Given the description of an element on the screen output the (x, y) to click on. 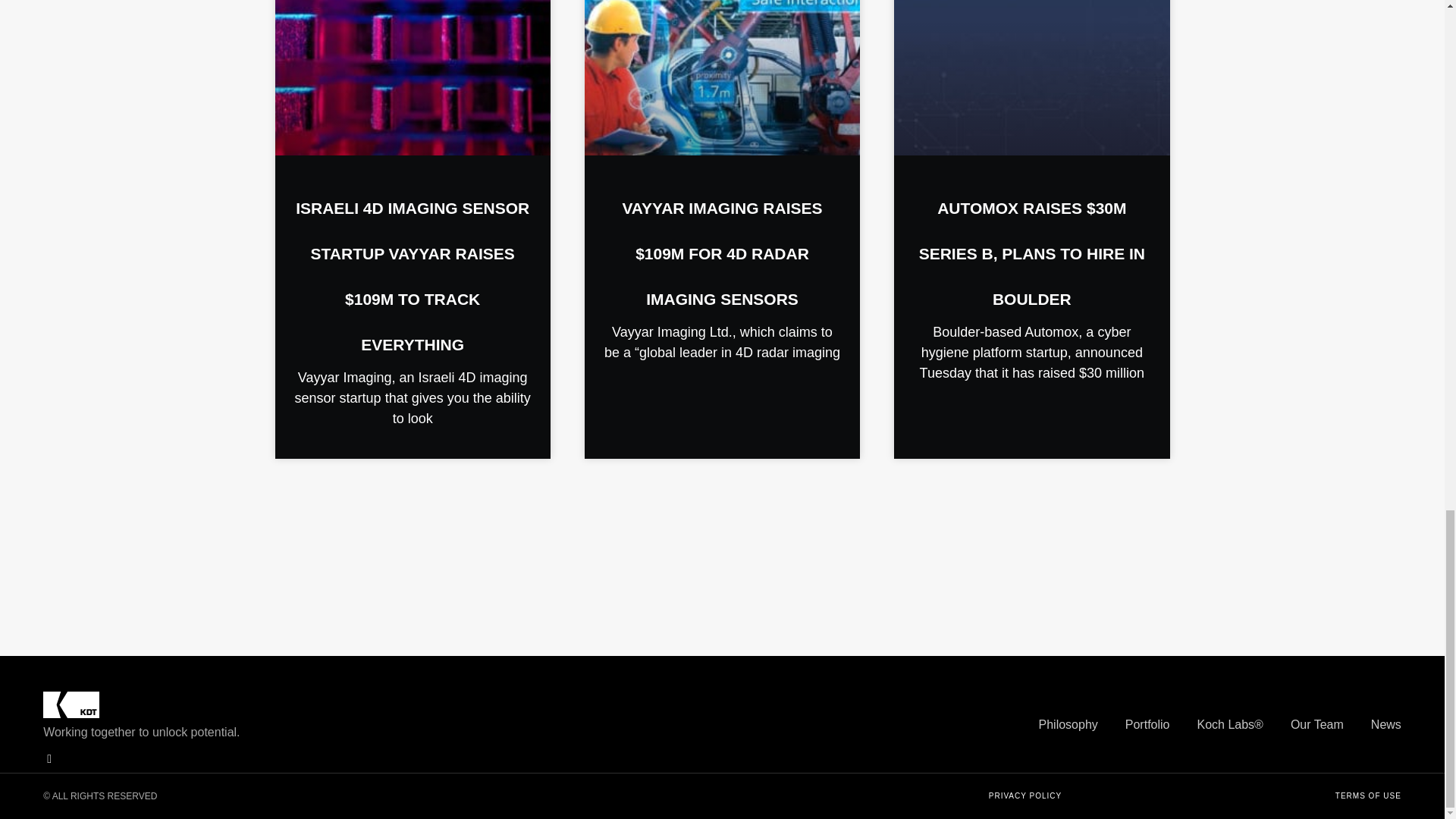
News (1385, 724)
Portfolio (1147, 724)
Our Team (1316, 724)
PRIVACY POLICY (1024, 795)
TERMS OF USE (1367, 795)
Philosophy (1068, 724)
